Given the description of an element on the screen output the (x, y) to click on. 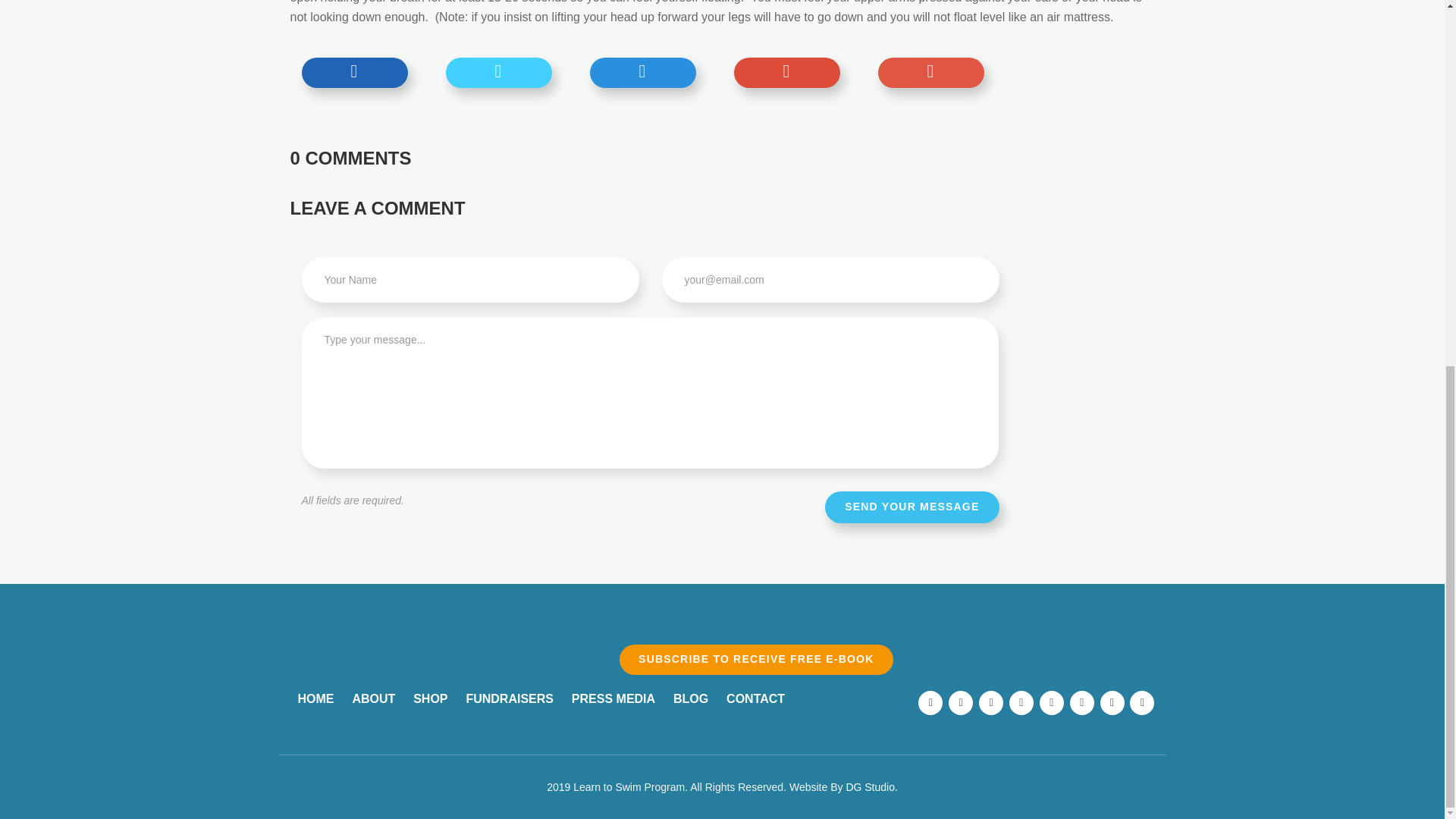
ABOUT (373, 698)
HOME (315, 698)
SHOP (429, 698)
SEND YOUR MESSAGE (911, 507)
PRESS MEDIA (613, 698)
SUBSCRIBE TO RECEIVE FREE E-BOOK (756, 659)
DG Studio (870, 787)
FUNDRAISERS (509, 698)
BLOG (689, 698)
CONTACT (755, 698)
